Given the description of an element on the screen output the (x, y) to click on. 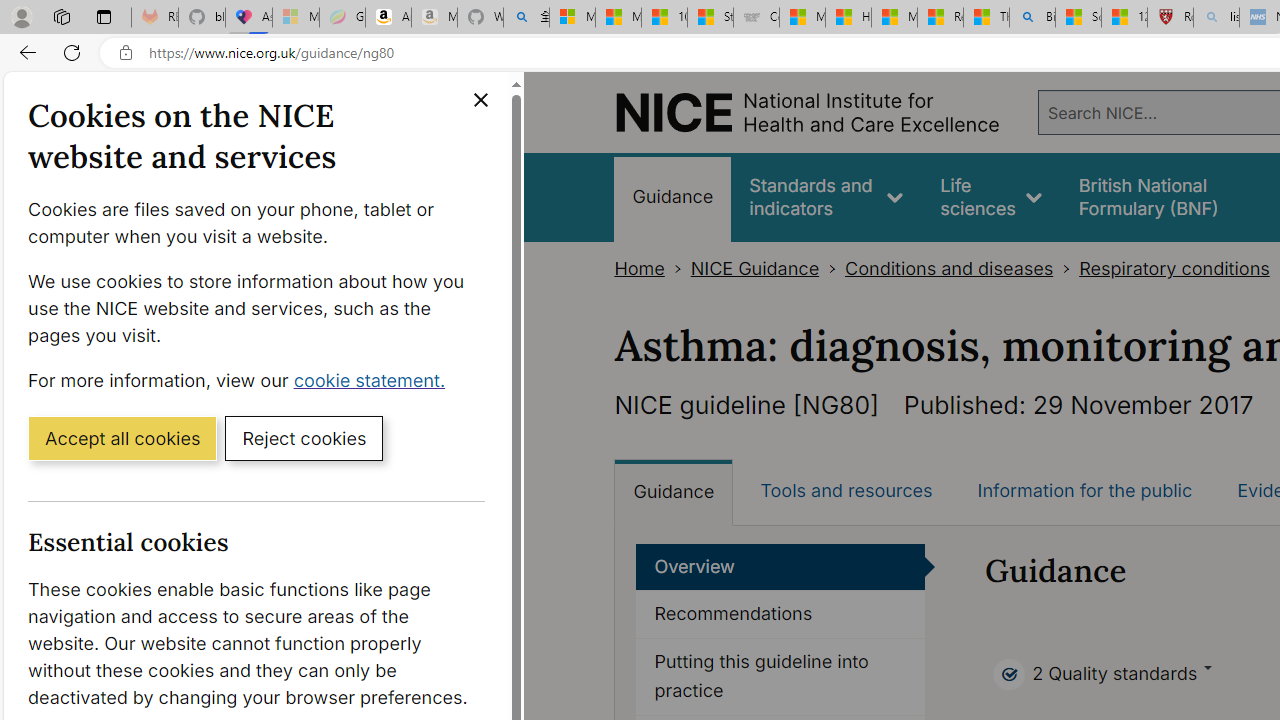
Overview (781, 566)
Putting this guideline into practice (780, 676)
How I Got Rid of Microsoft Edge's Unnecessary Features (848, 17)
Tools and resources (846, 490)
Robert H. Shmerling, MD - Harvard Health (1170, 17)
cookie statement. (Opens in a new window) (373, 379)
Information for the public (1084, 490)
Recipes - MSN (939, 17)
Tools and resources (846, 490)
